Given the description of an element on the screen output the (x, y) to click on. 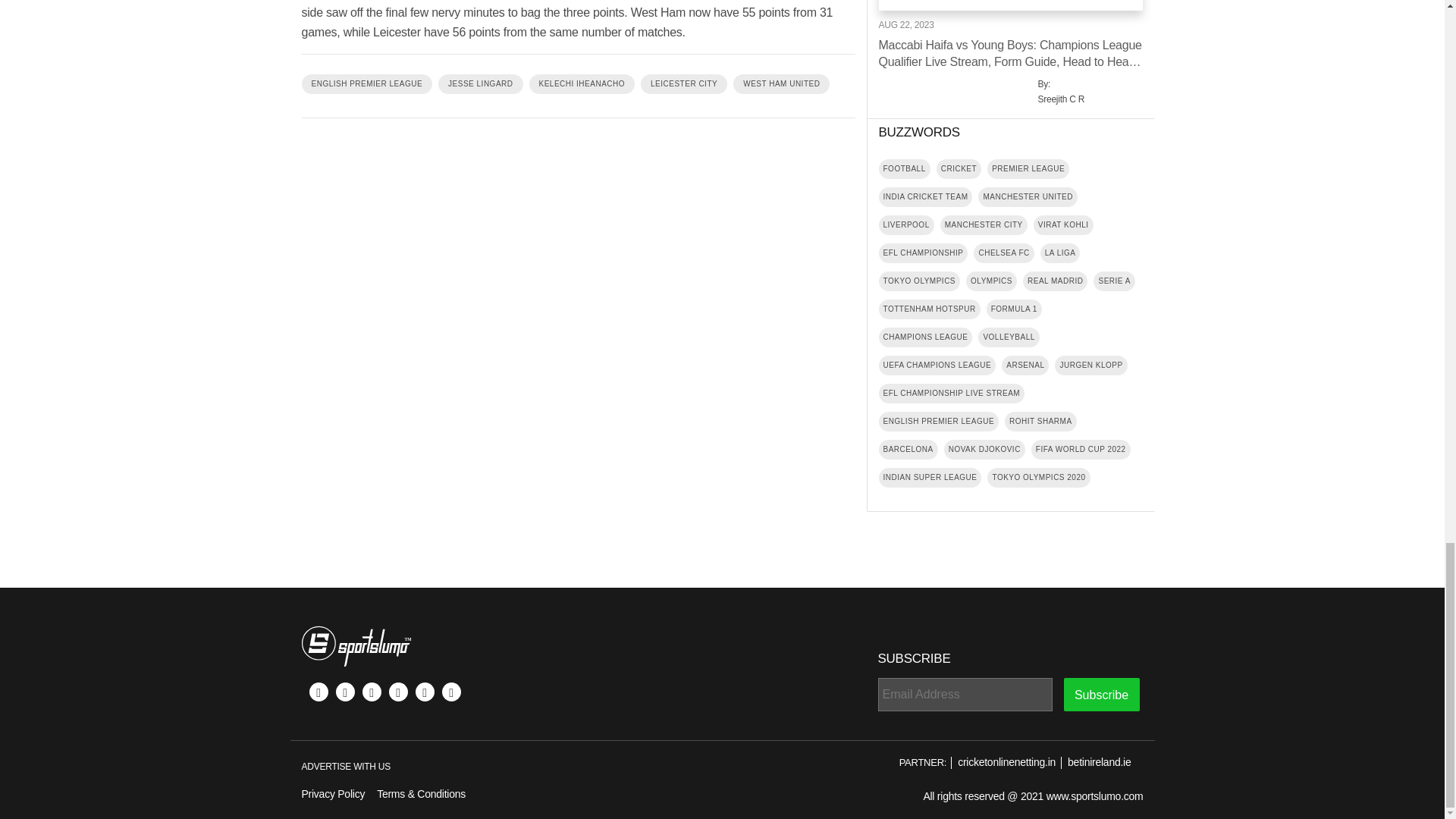
Subscribe (1100, 694)
